Given the description of an element on the screen output the (x, y) to click on. 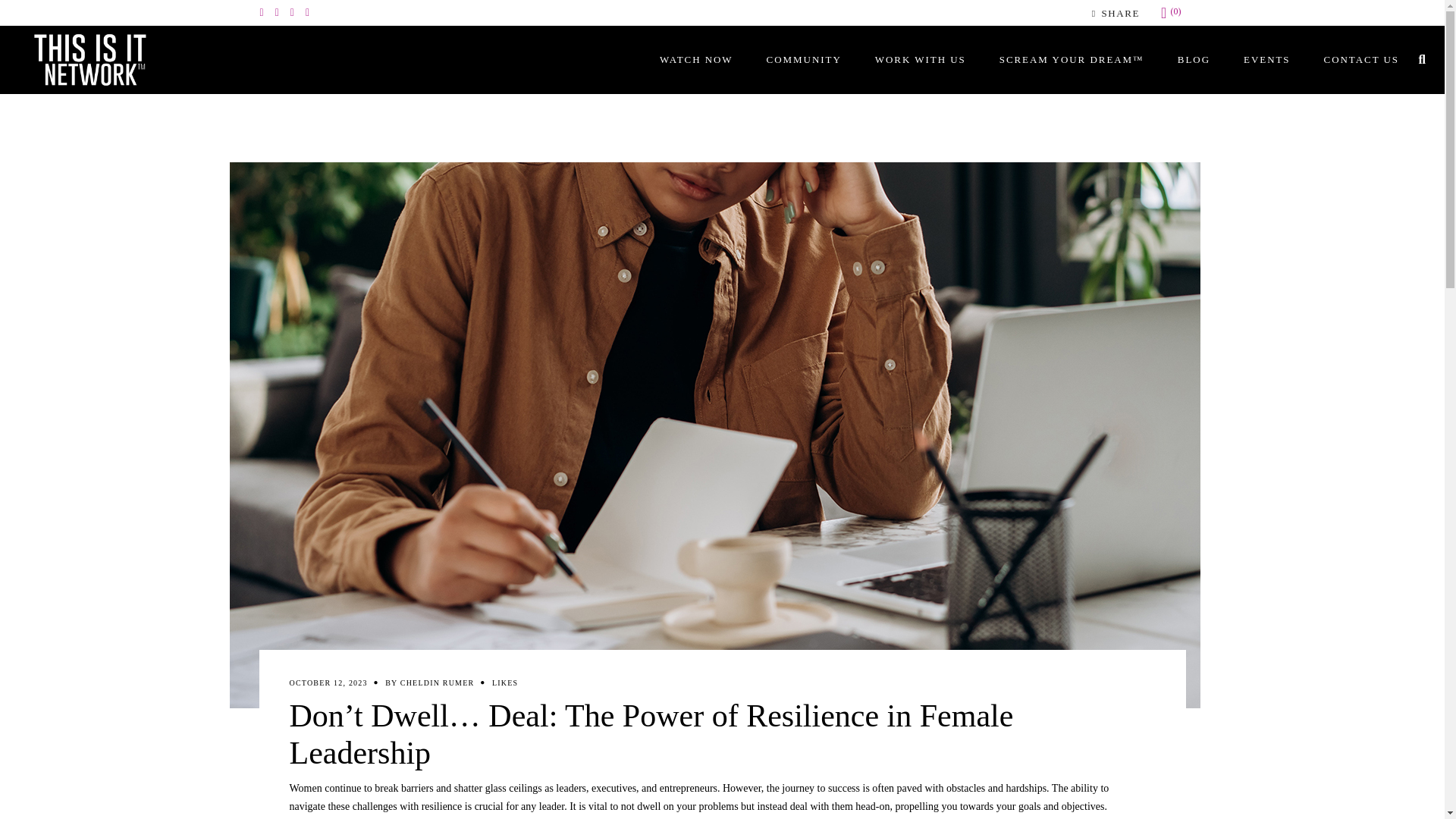
COMMUNITY (804, 59)
SHARE (1113, 12)
WATCH NOW (696, 59)
Like this (505, 682)
